Given the description of an element on the screen output the (x, y) to click on. 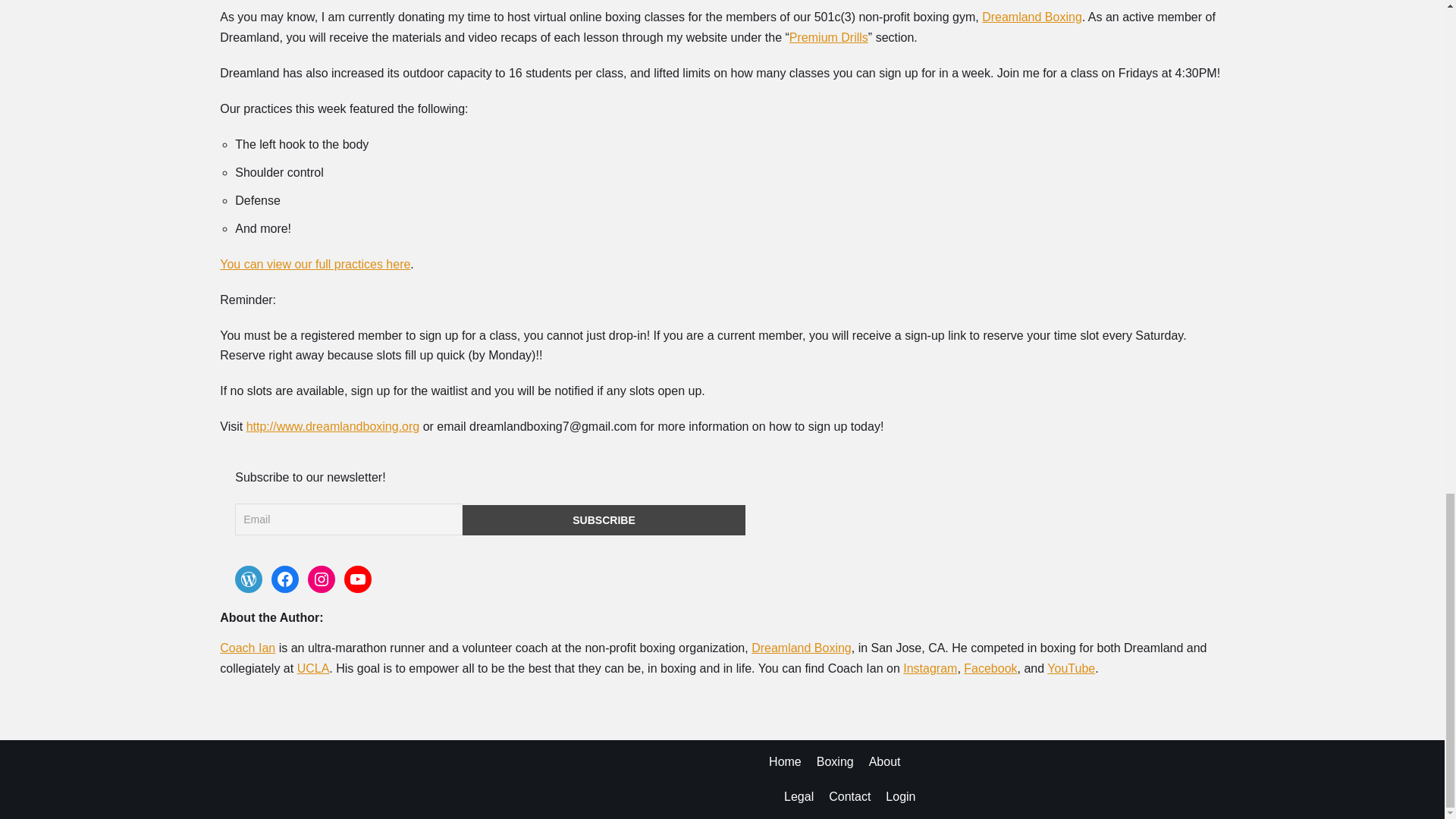
Subscribe (604, 520)
